Given the description of an element on the screen output the (x, y) to click on. 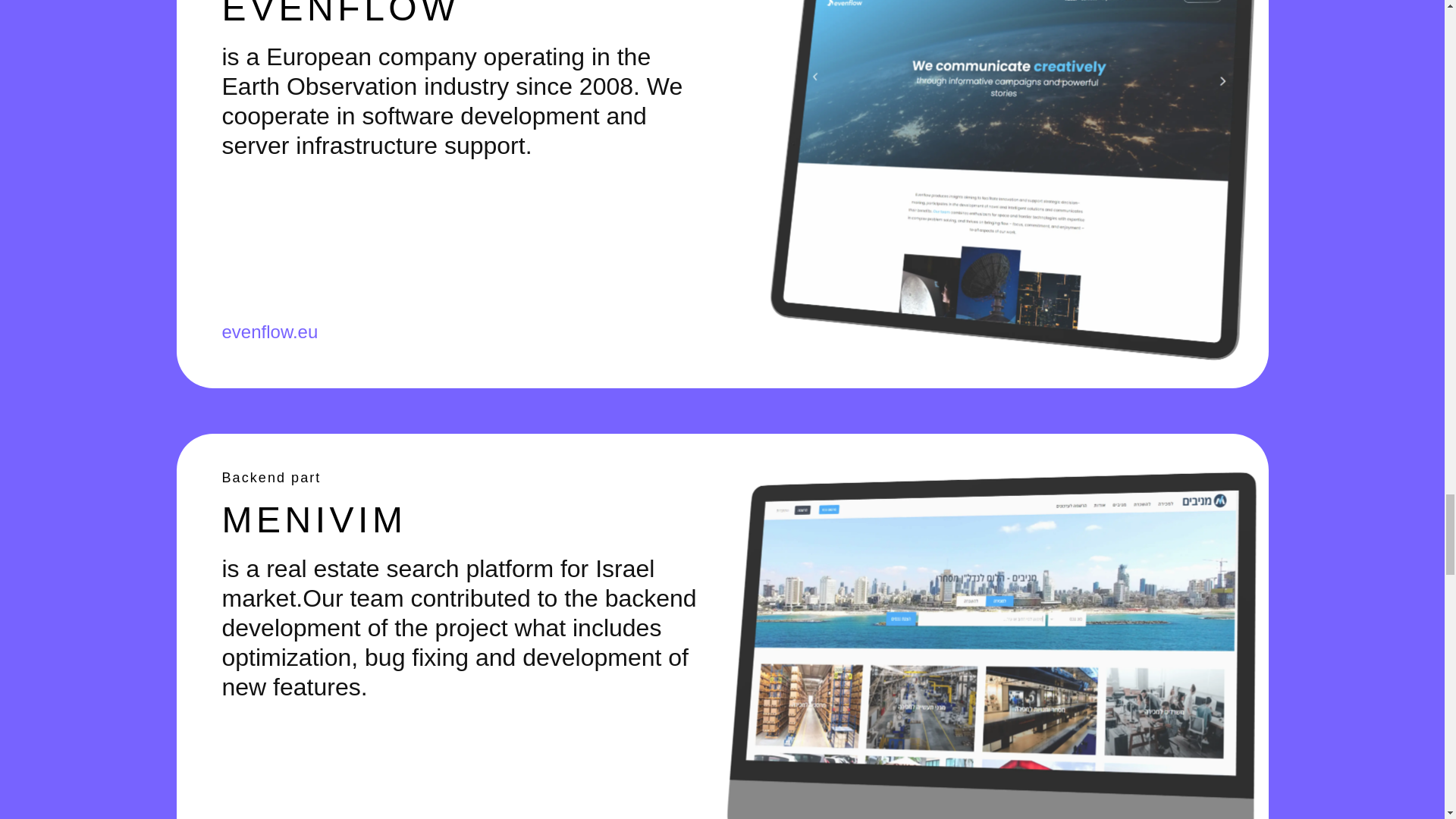
evenflow.eu (269, 332)
